Given the description of an element on the screen output the (x, y) to click on. 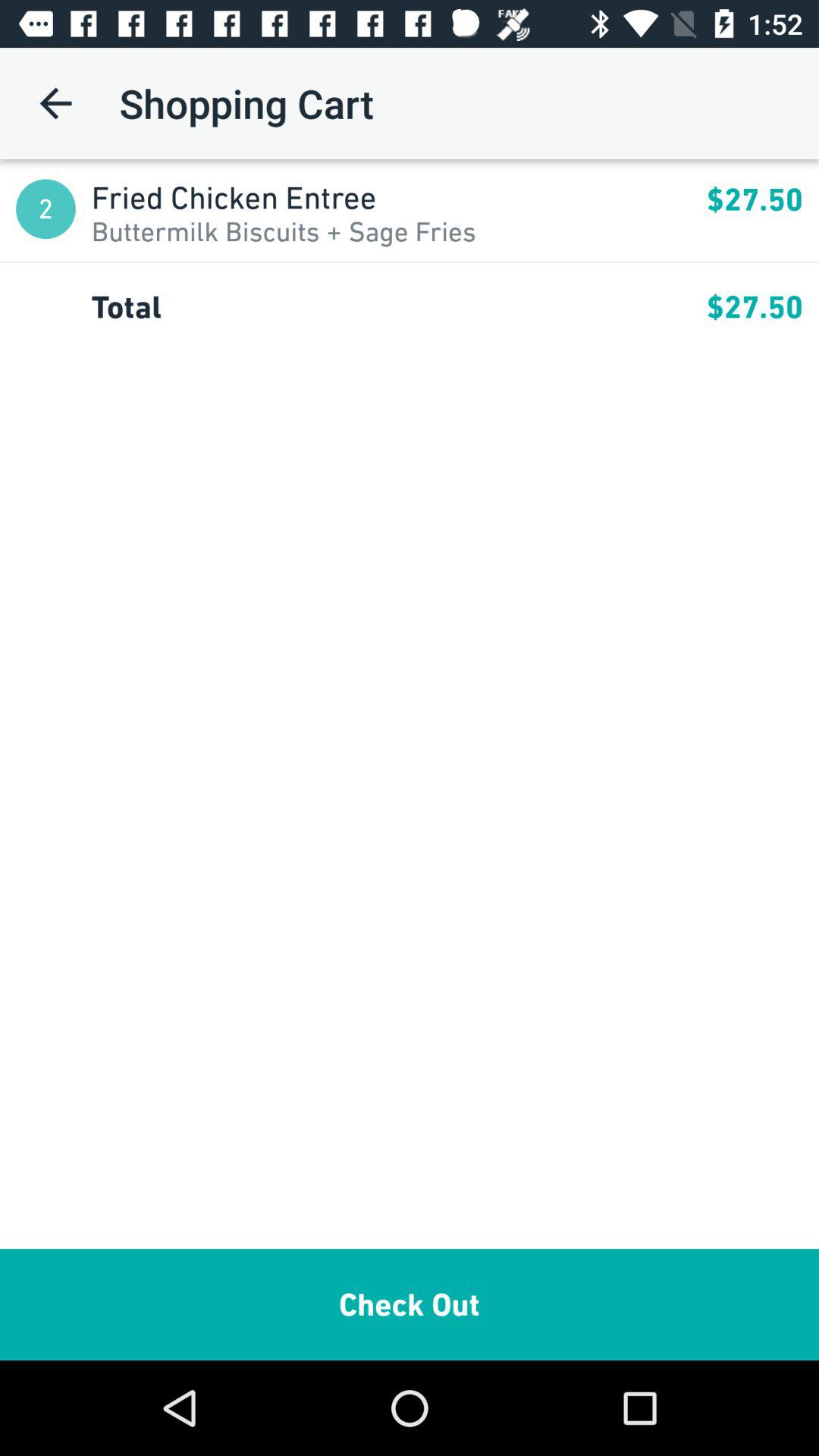
click the icon to the left of shopping cart icon (55, 103)
